Given the description of an element on the screen output the (x, y) to click on. 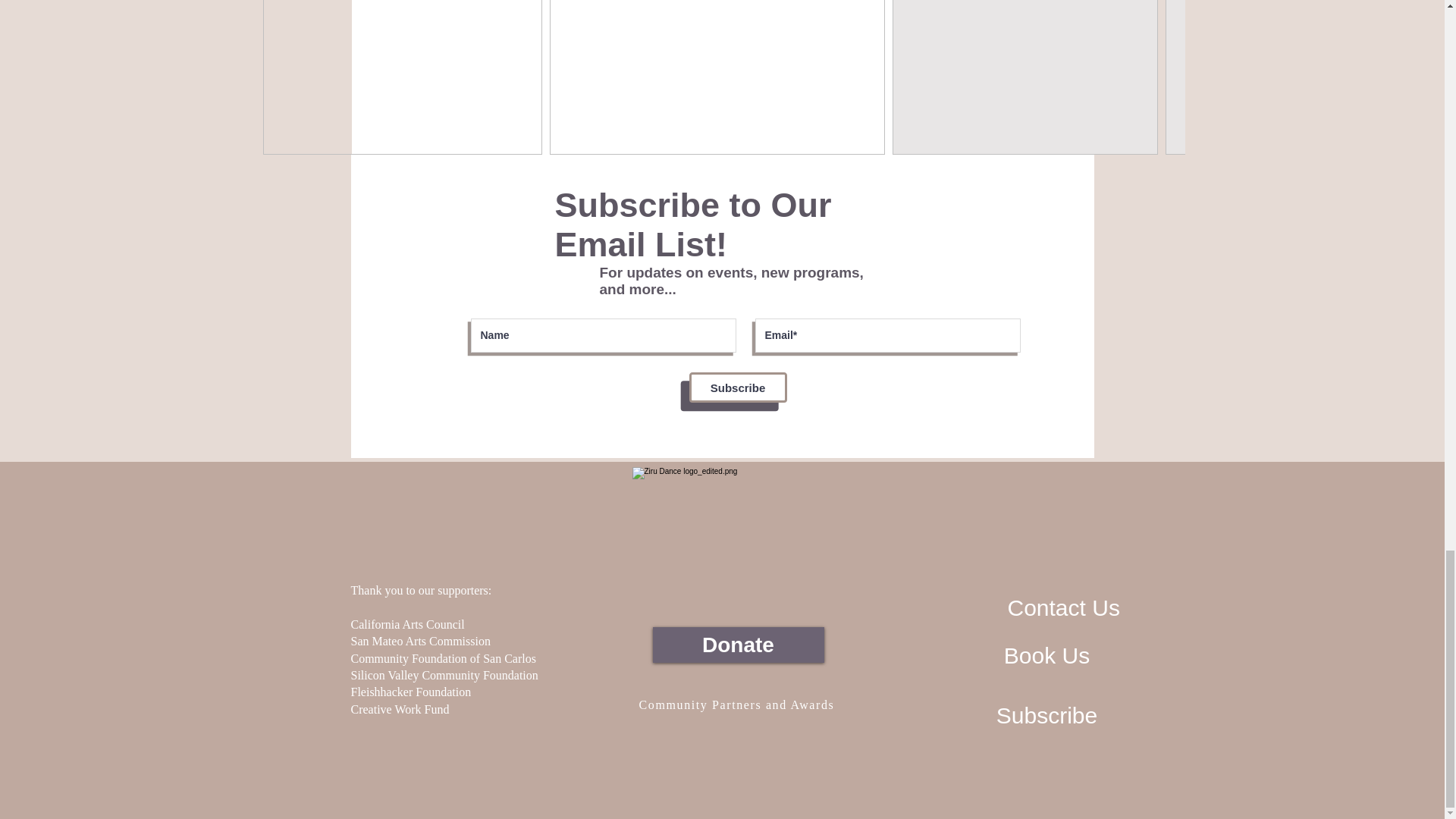
Community Partners and Awards (738, 704)
Contact Us (1063, 607)
Book Us (1047, 655)
Donate (738, 644)
Subscribe (737, 387)
Subscribe (1046, 715)
